Given the description of an element on the screen output the (x, y) to click on. 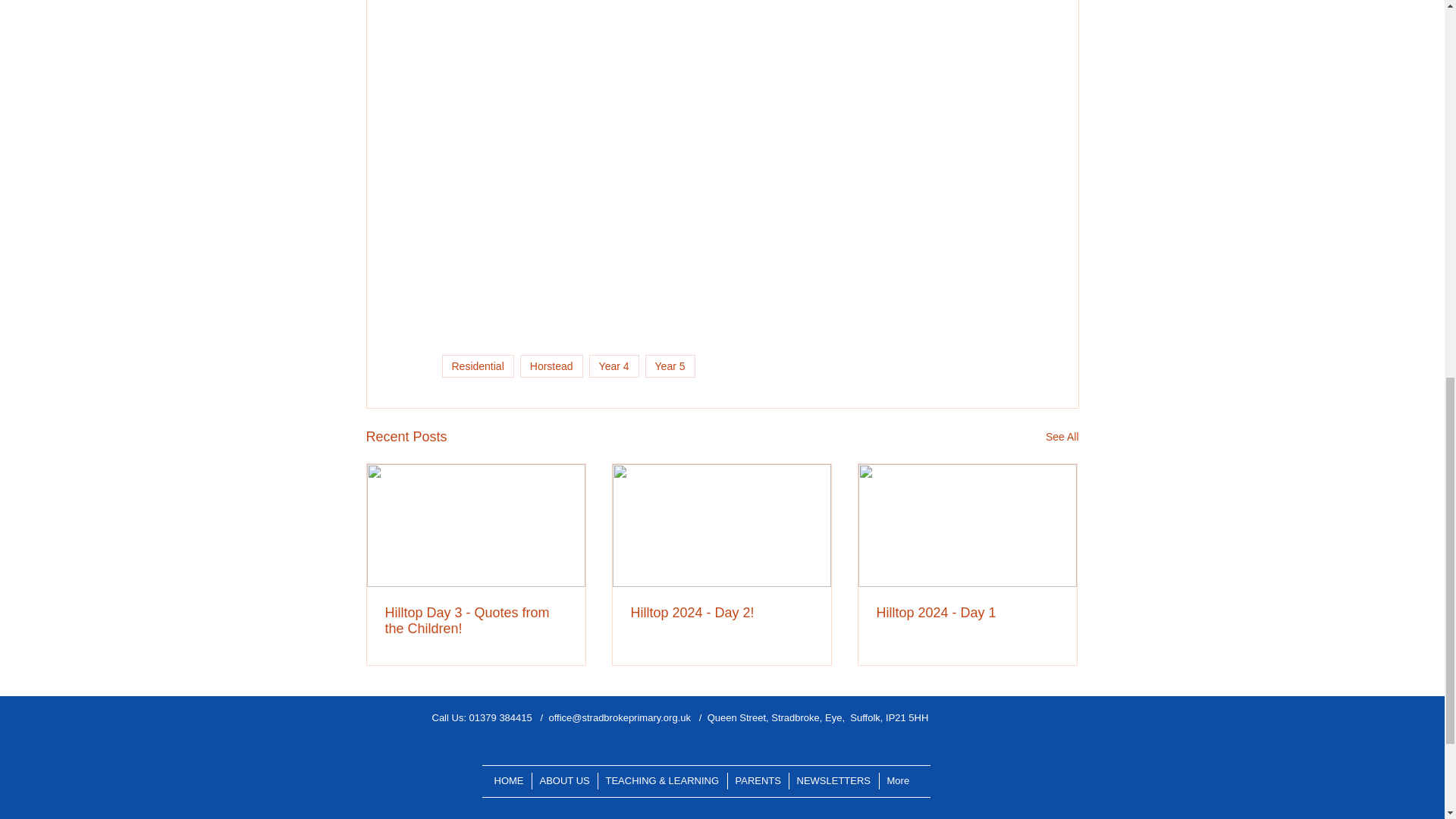
Year 5 (670, 365)
Hilltop Day 3 - Quotes from the Children! (476, 621)
Year 4 (614, 365)
See All (1061, 436)
Hilltop 2024 - Day 2! (721, 612)
Hilltop 2024 - Day 1 (967, 612)
Residential (477, 365)
Horstead (551, 365)
